Given the description of an element on the screen output the (x, y) to click on. 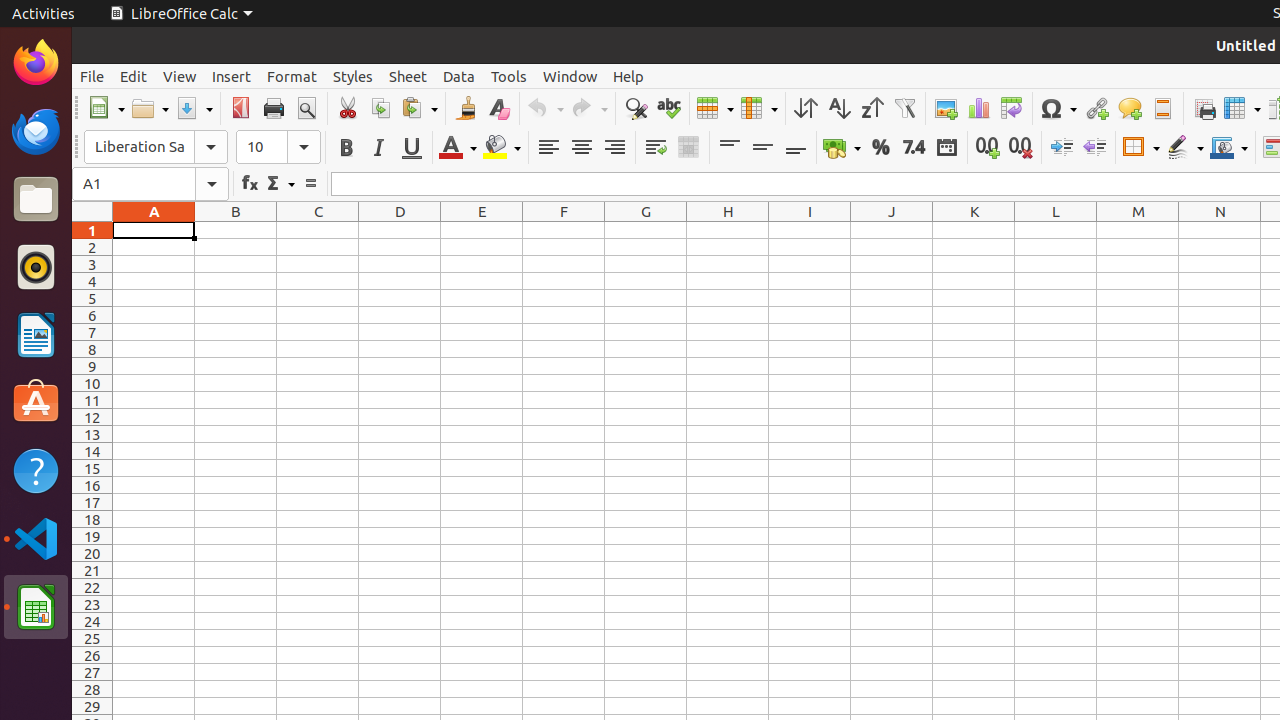
Freeze Rows and Columns Element type: push-button (1242, 108)
B1 Element type: table-cell (236, 230)
PDF Element type: push-button (240, 108)
Add Decimal Place Element type: push-button (987, 147)
Sheet Element type: menu (408, 76)
